Given the description of an element on the screen output the (x, y) to click on. 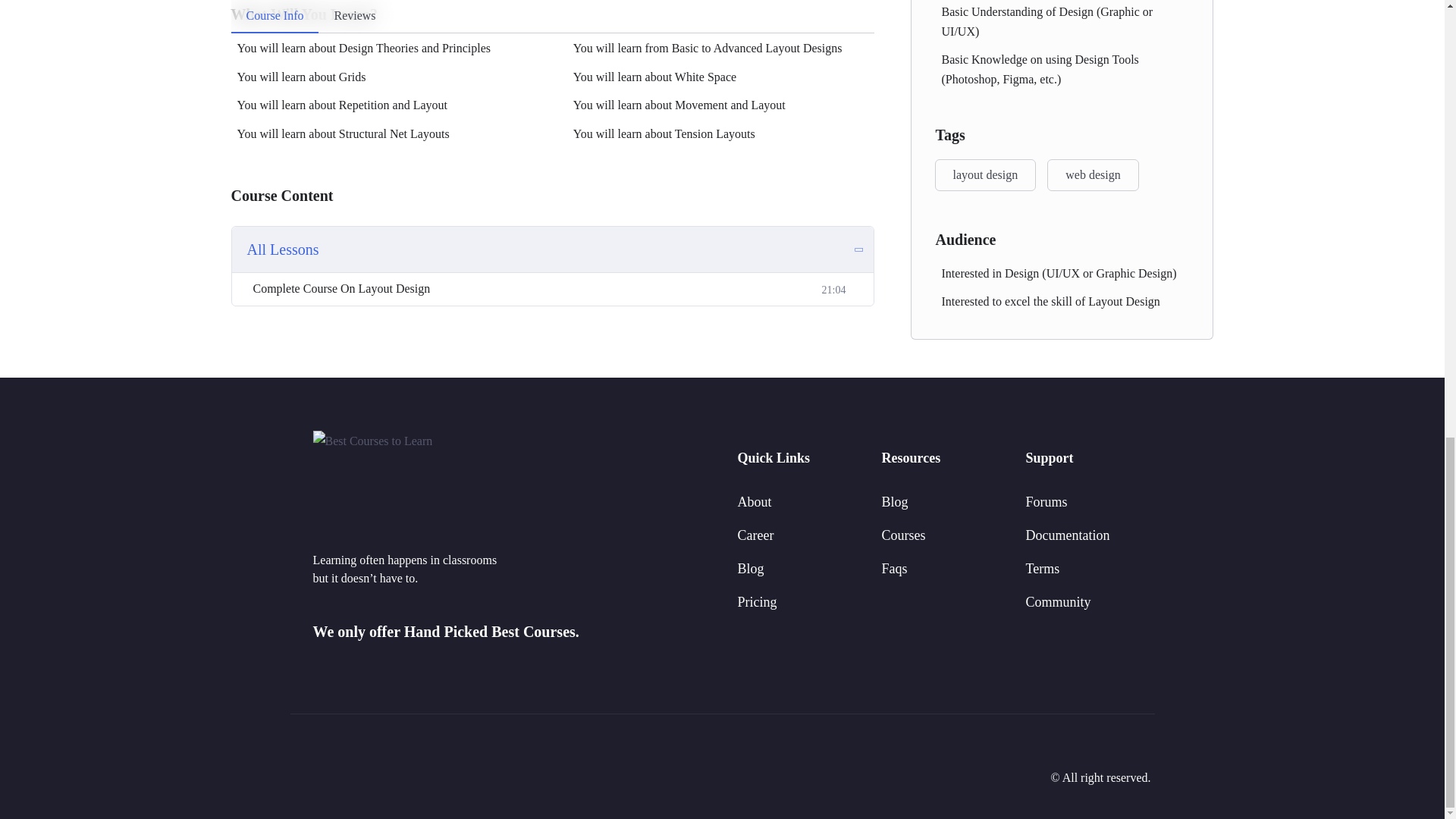
About (753, 501)
layout design (984, 174)
web design (1092, 174)
Career (754, 534)
Blog (749, 568)
